Given the description of an element on the screen output the (x, y) to click on. 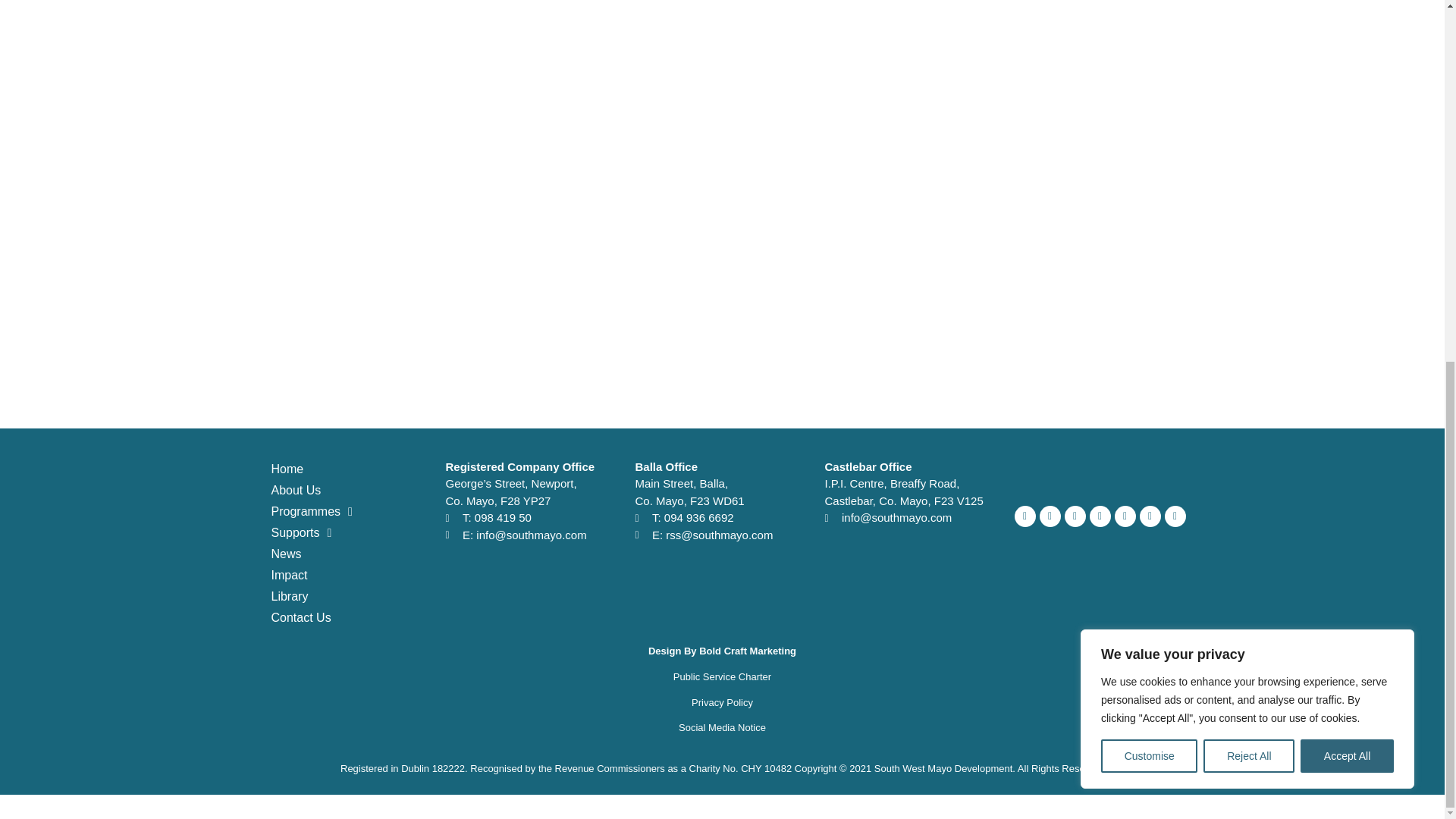
Reject All (1249, 113)
Accept All (1346, 113)
Customise (1148, 113)
